Given the description of an element on the screen output the (x, y) to click on. 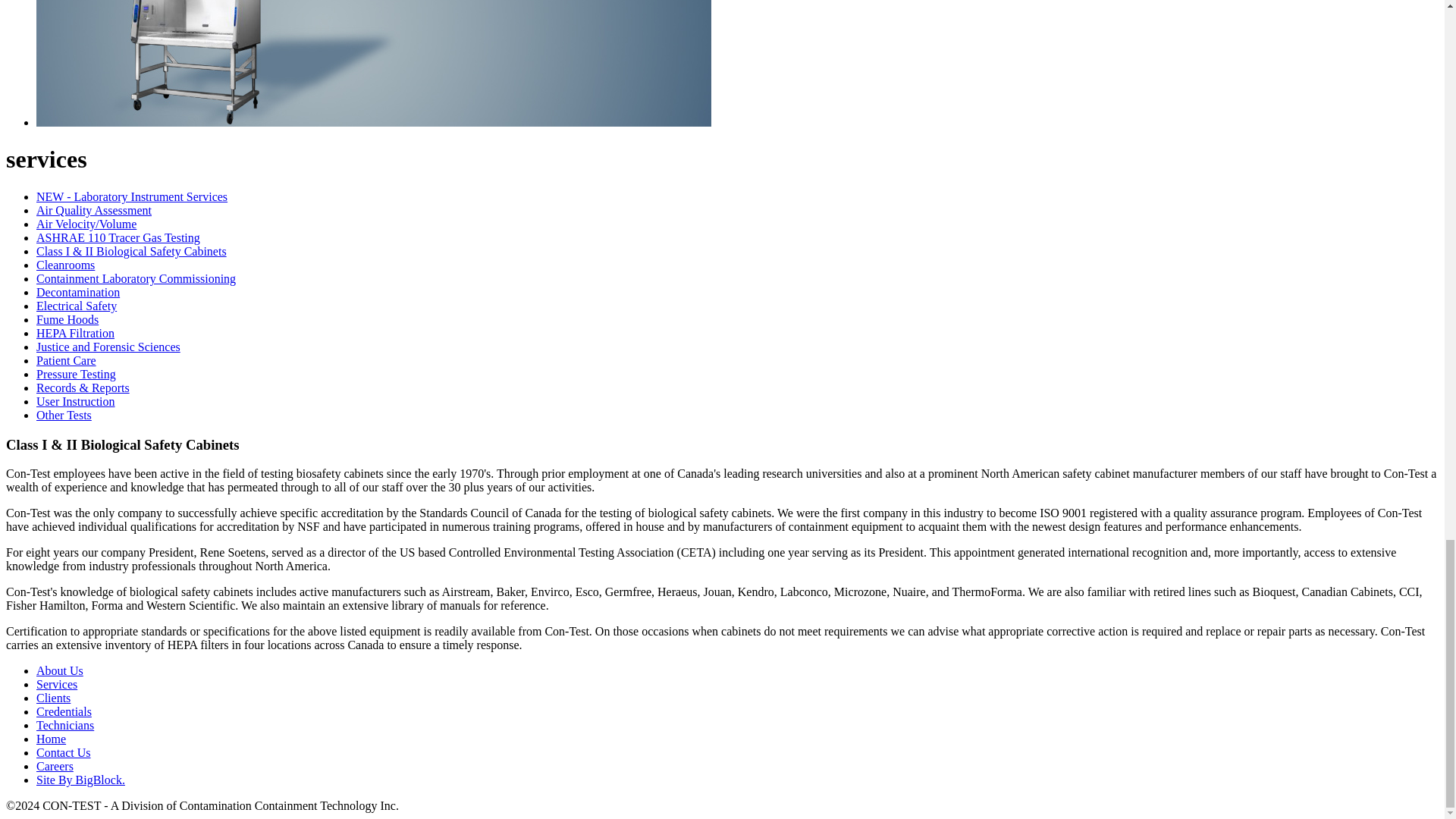
Site By BigBlock. (80, 779)
Home (50, 738)
Air Quality Assessment (93, 210)
Cleanrooms (65, 264)
Pressure Testing (76, 373)
Credentials (63, 711)
Services (56, 684)
Containment Laboratory Commissioning (135, 278)
Patient Care (66, 359)
Contact Us (63, 752)
Technicians (65, 725)
Other Tests (63, 414)
HEPA Filtration (75, 332)
About Us (59, 670)
Justice and Forensic Sciences (108, 346)
